Given the description of an element on the screen output the (x, y) to click on. 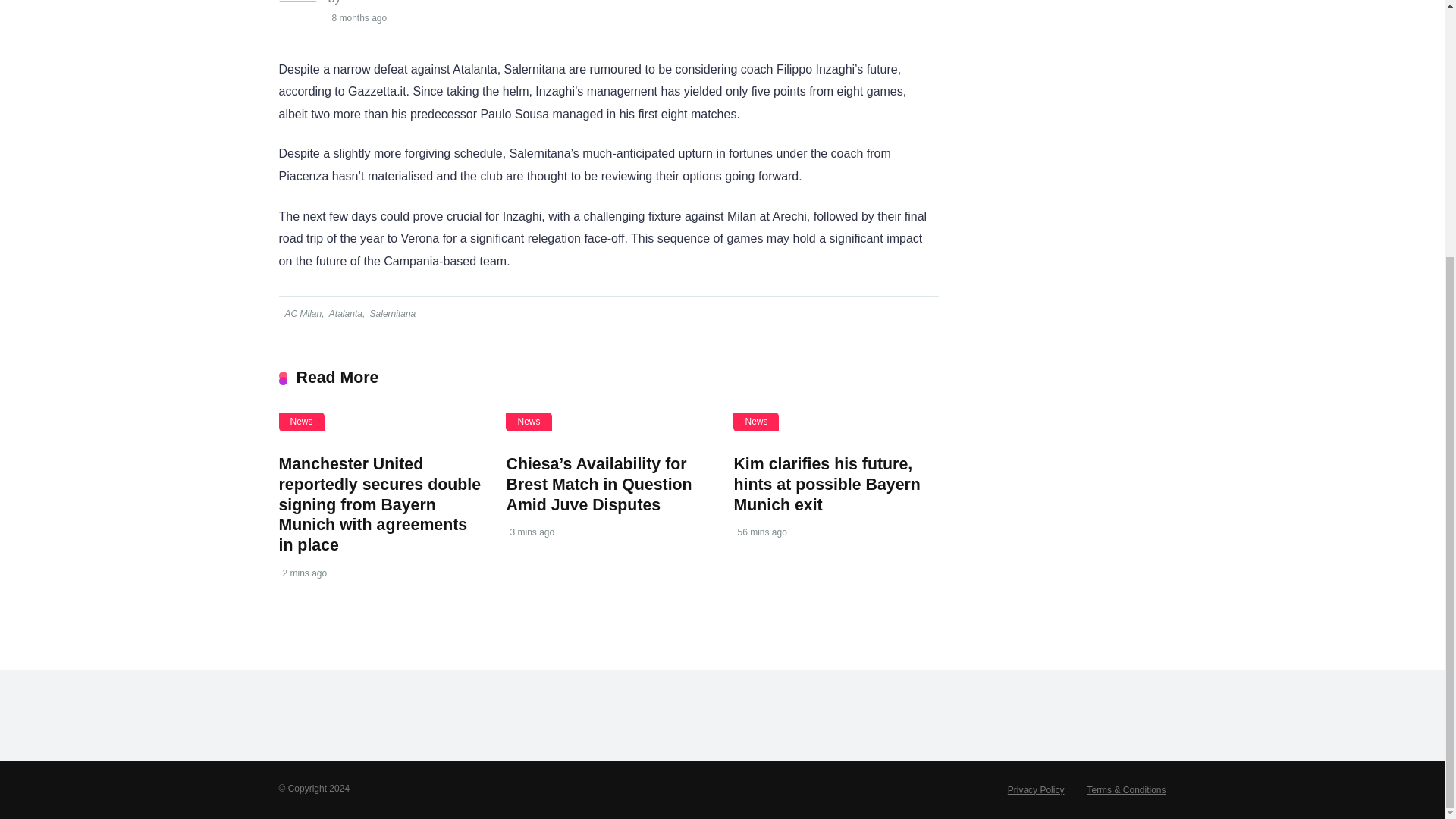
News (755, 421)
Atalanta (344, 313)
Privacy Policy (1035, 789)
News (301, 421)
News (528, 421)
Salernitana (392, 313)
AC Milan (301, 313)
